Given the description of an element on the screen output the (x, y) to click on. 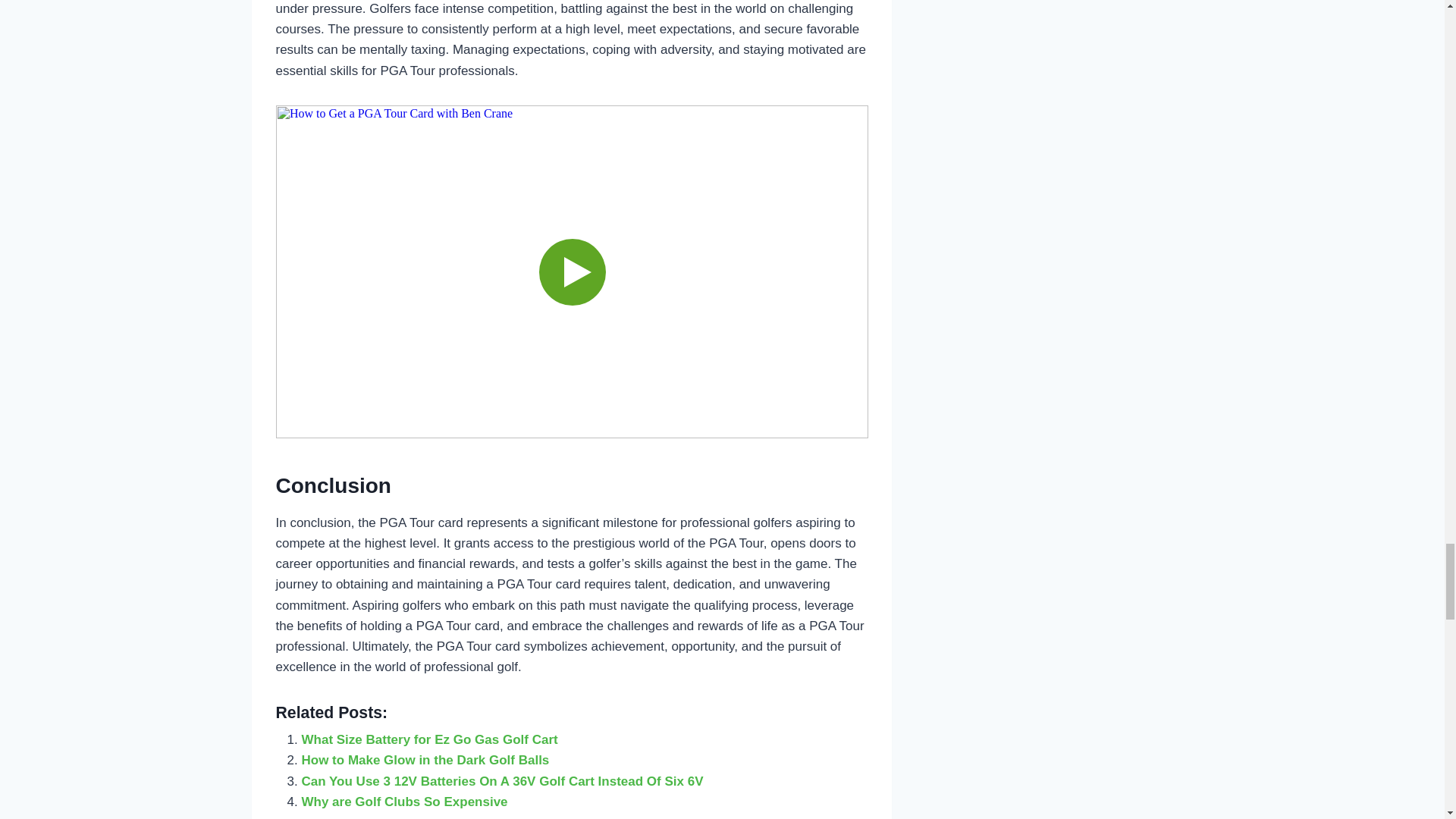
What Size Battery for Ez Go Gas Golf Cart (429, 739)
How to Make Glow in the Dark Golf Balls (425, 759)
What Size Battery for Ez Go Gas Golf Cart (429, 739)
Why are Golf Clubs So Expensive (404, 801)
How to Make Glow in the Dark Golf Balls (425, 759)
Why are Golf Clubs So Expensive (404, 801)
